Given the description of an element on the screen output the (x, y) to click on. 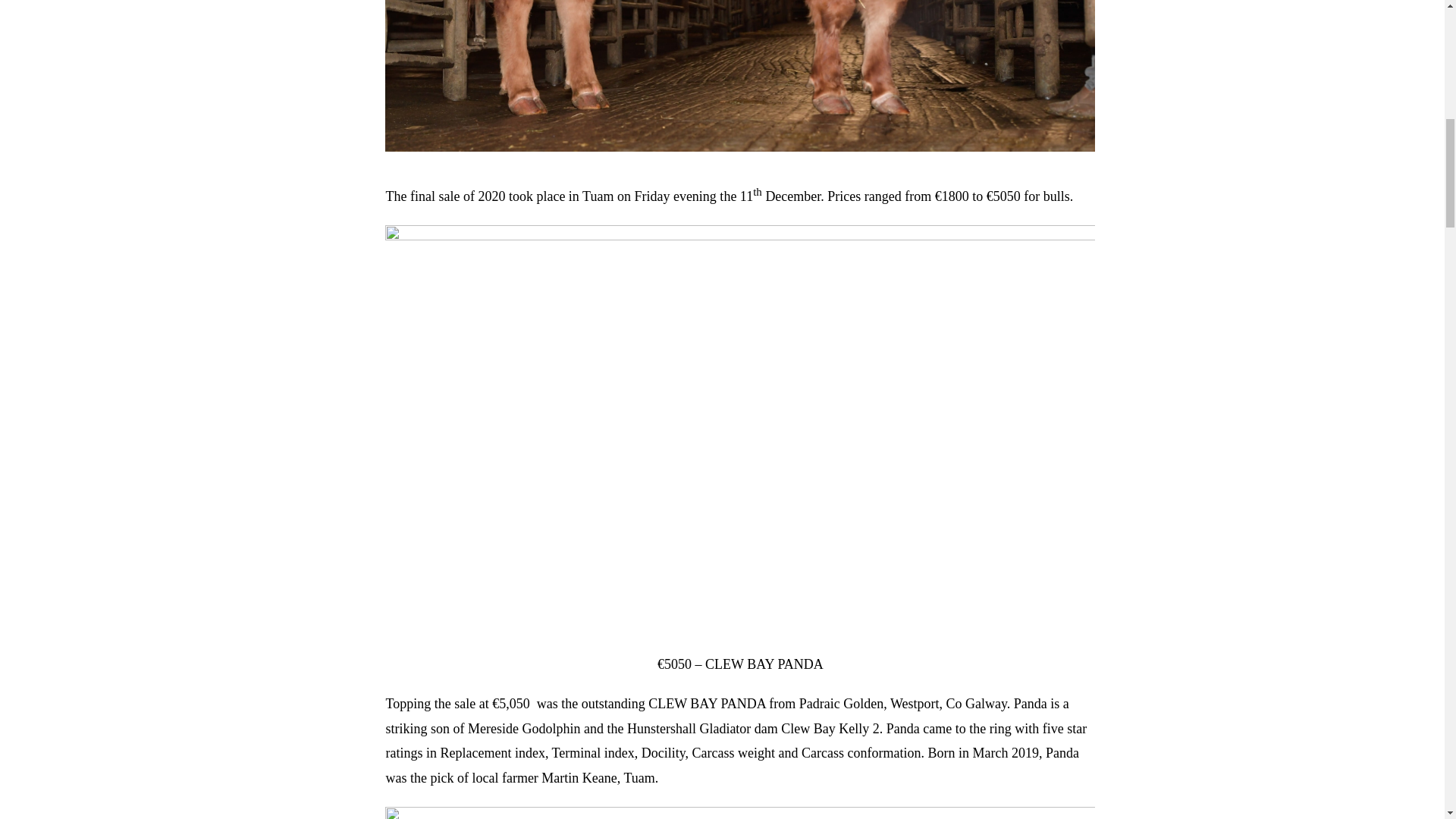
ilim20lot7tuam 9473 (739, 75)
